Given the description of an element on the screen output the (x, y) to click on. 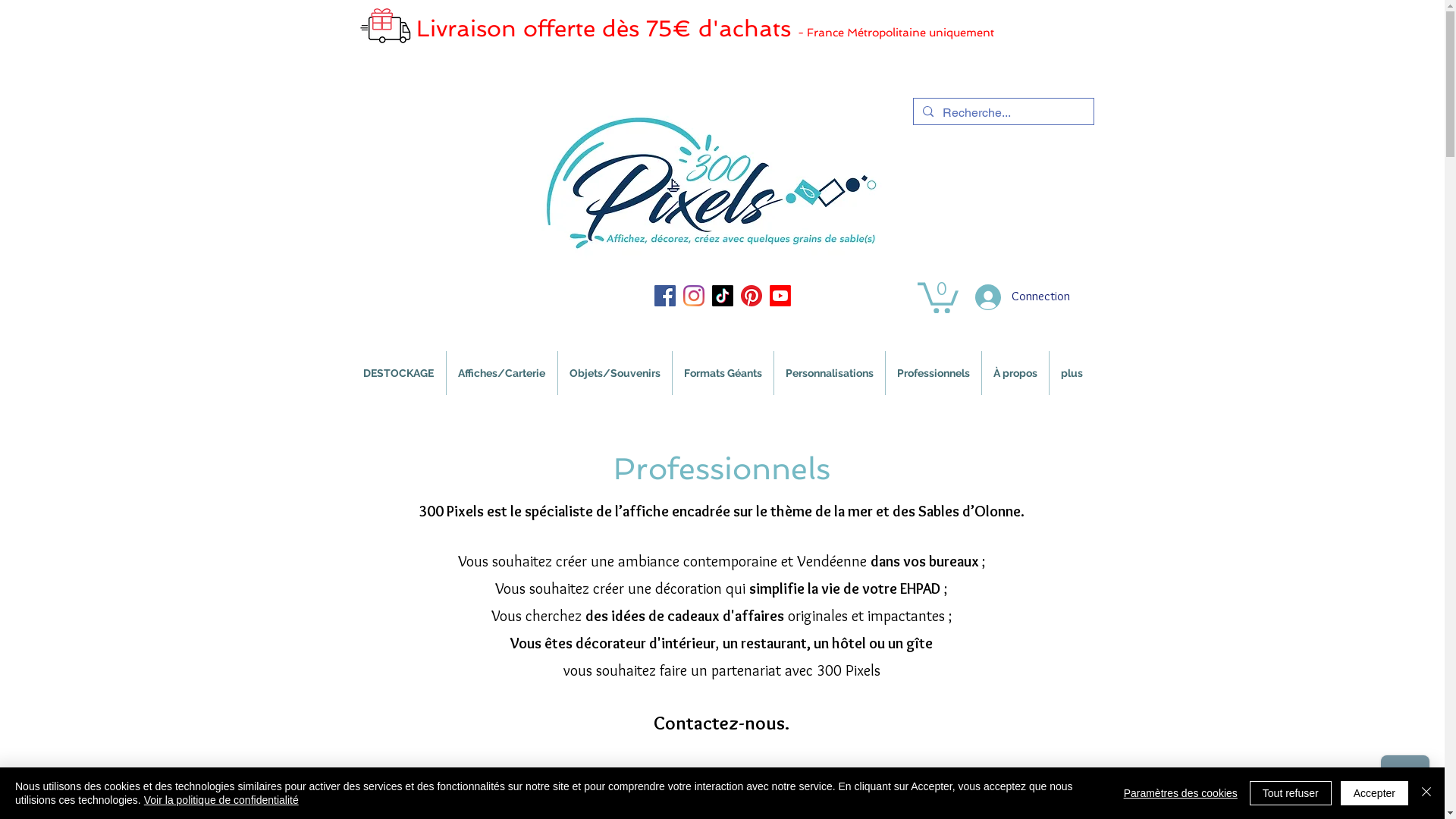
Objets/Souvenirs Element type: text (614, 373)
Tout refuser Element type: text (1290, 793)
DESTOCKAGE Element type: text (398, 373)
Personnalisations Element type: text (828, 373)
0 Element type: text (937, 296)
Affiches/Carterie Element type: text (500, 373)
Accepter Element type: text (1374, 793)
Connection Element type: text (1018, 296)
Professionnels Element type: text (933, 373)
